Given the description of an element on the screen output the (x, y) to click on. 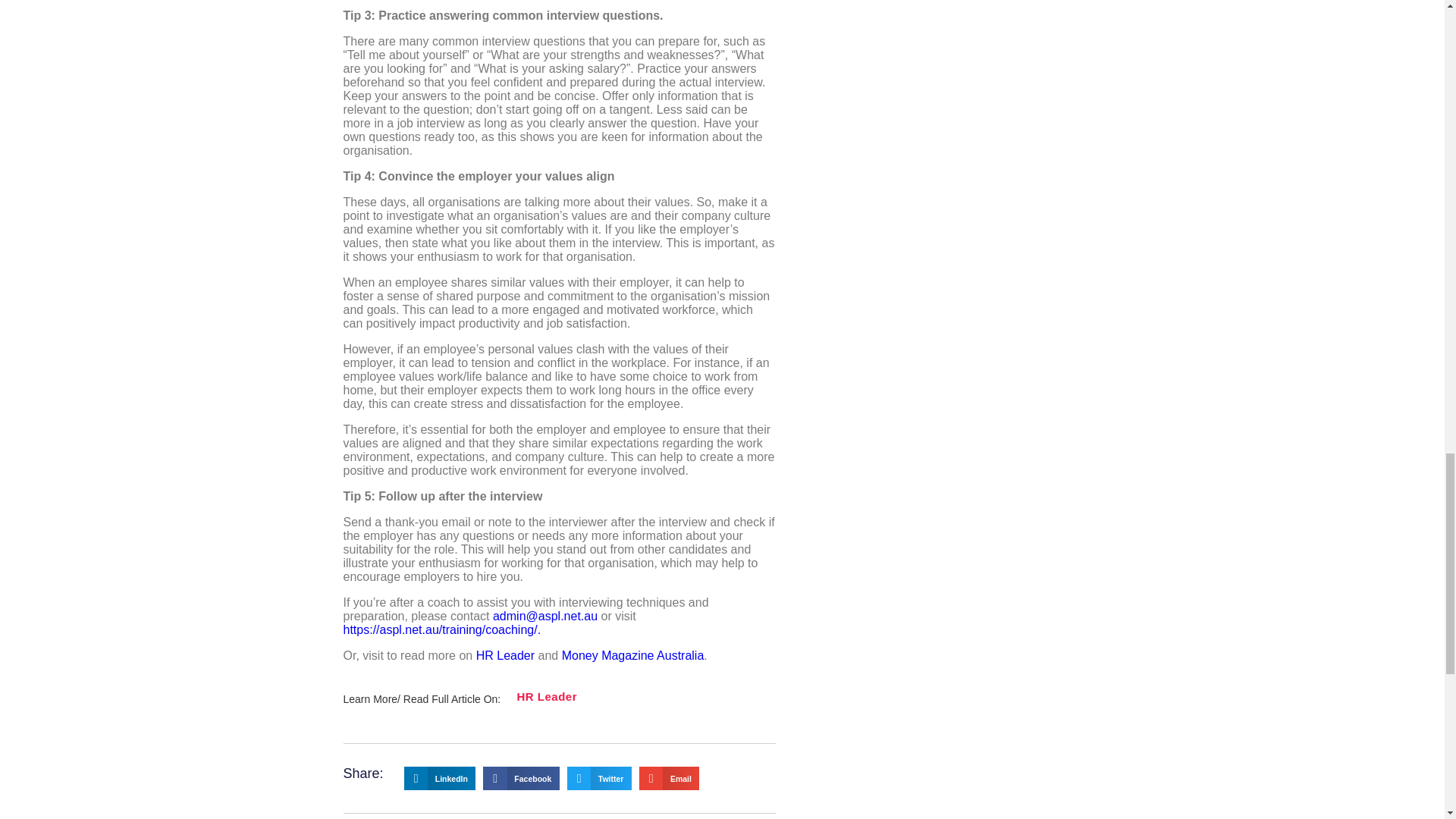
Money Magazine Australia (633, 655)
HR Leader (546, 696)
HR Leader (505, 655)
